Given the description of an element on the screen output the (x, y) to click on. 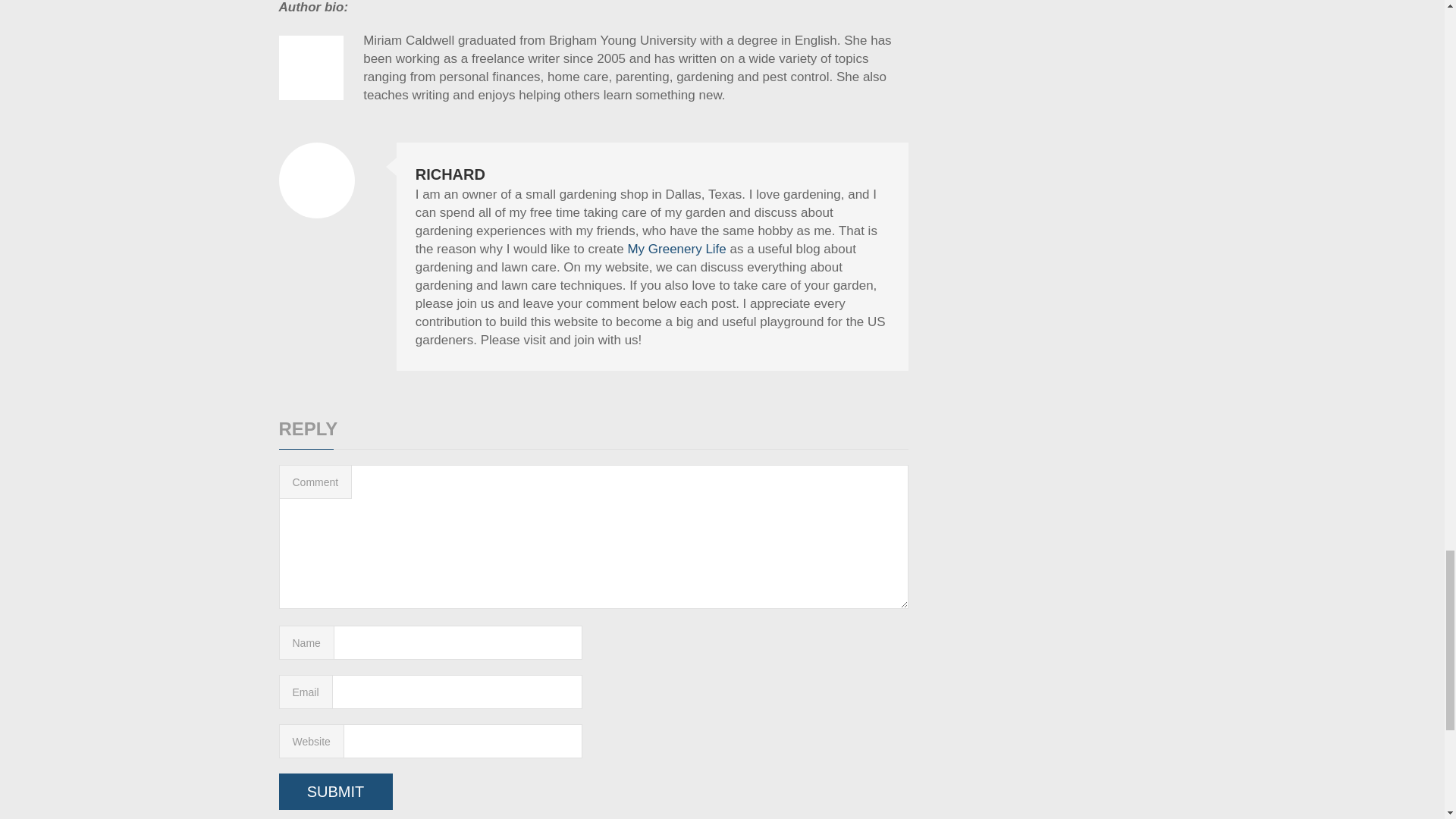
My Greenery Life (676, 248)
RICHARD (449, 174)
Submit (336, 791)
Submit (336, 791)
